Given the description of an element on the screen output the (x, y) to click on. 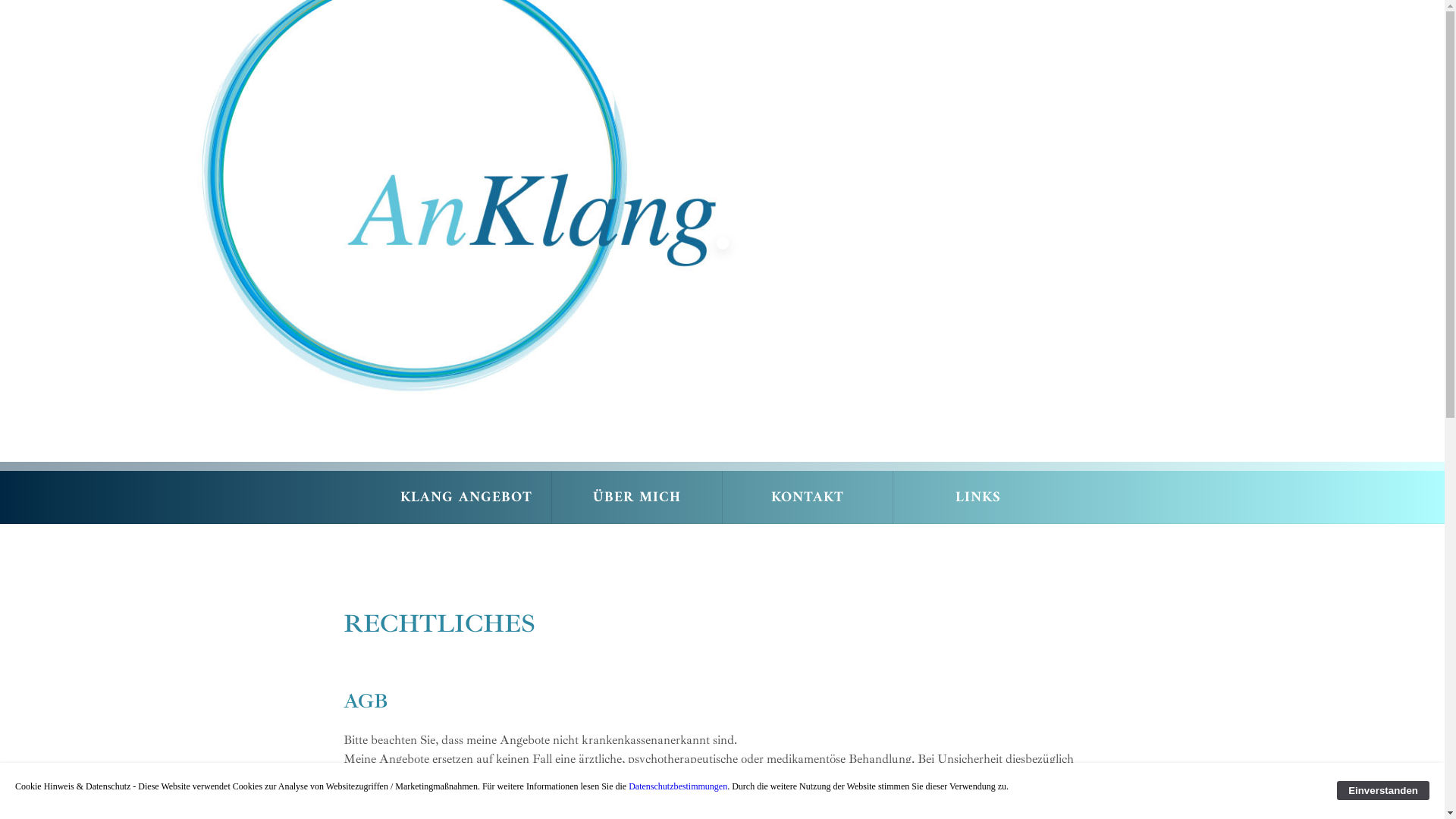
Datenschutzbestimmungen Element type: text (677, 786)
LINKS Element type: text (978, 497)
KONTAKT Element type: text (806, 497)
Einverstanden Element type: text (1382, 790)
KLANG ANGEBOT Element type: text (465, 497)
